Given the description of an element on the screen output the (x, y) to click on. 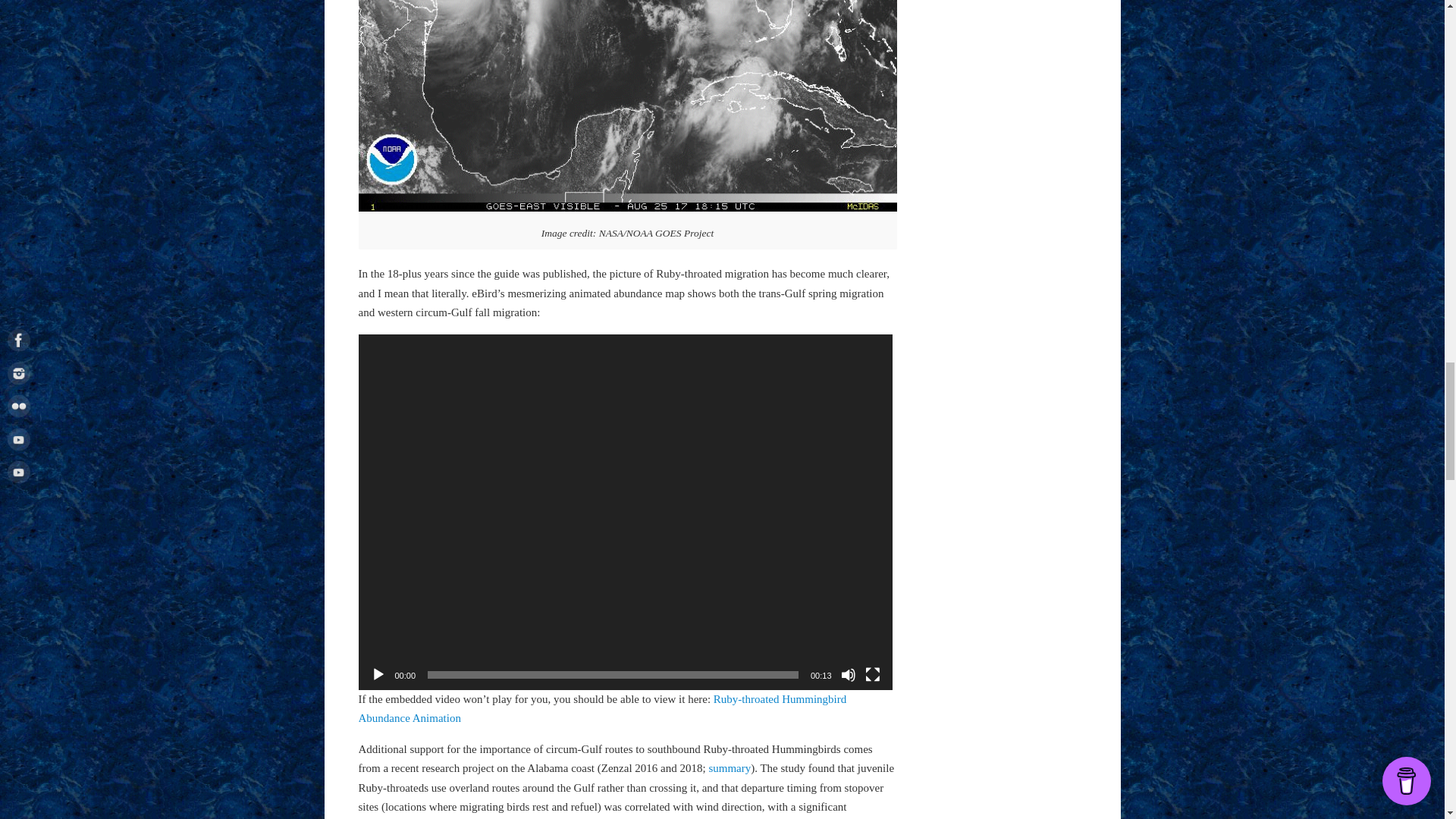
Fullscreen (871, 674)
Play (377, 674)
Ruby-throated Hummingbird Abundance Animation (601, 708)
Mute (848, 674)
